Given the description of an element on the screen output the (x, y) to click on. 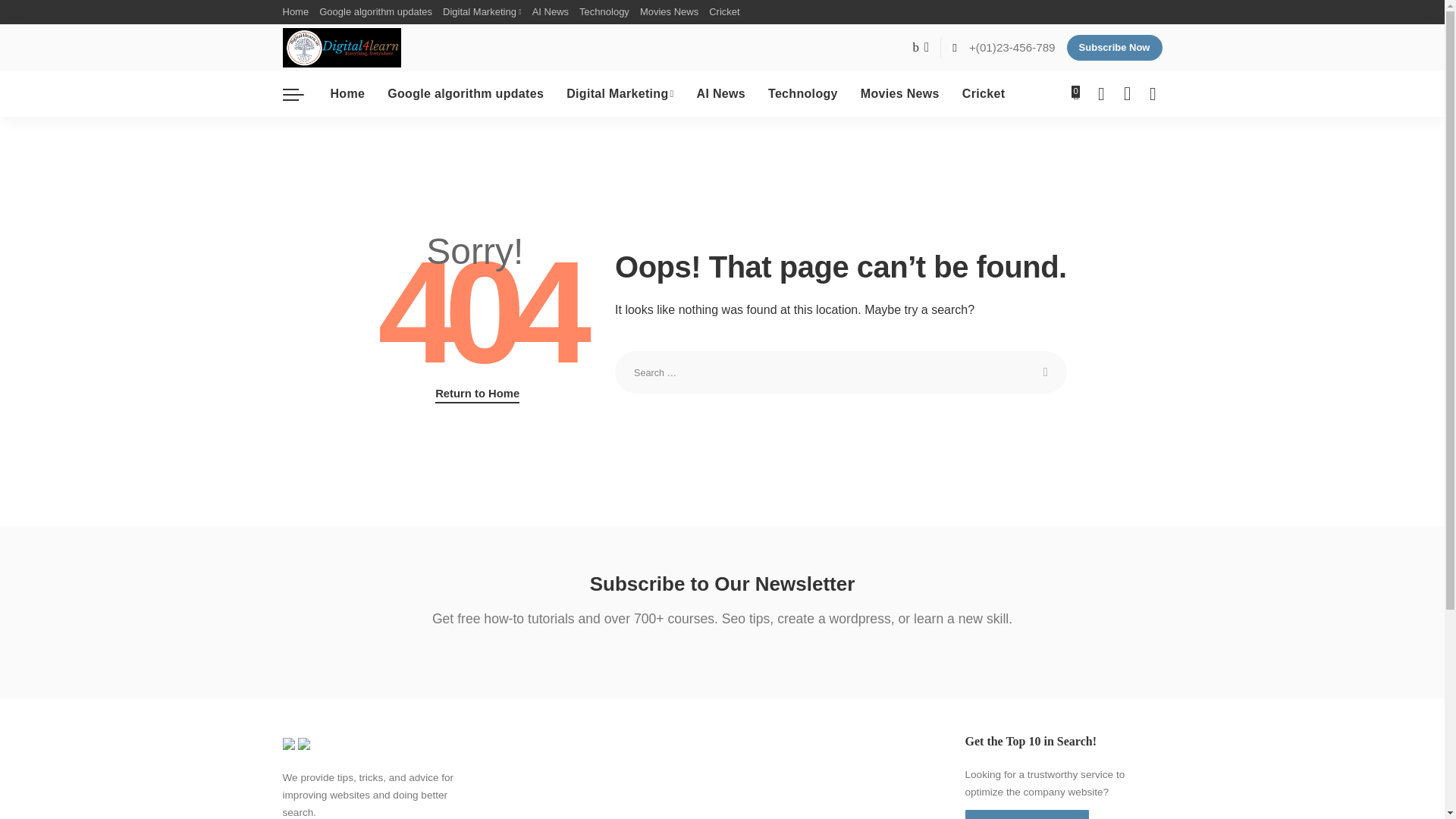
Return to Home (477, 393)
Home (298, 11)
Digital4learn (341, 47)
Search (1046, 372)
Search (1046, 372)
Digital Marketing (482, 11)
Google algorithm updates (376, 11)
